Given the description of an element on the screen output the (x, y) to click on. 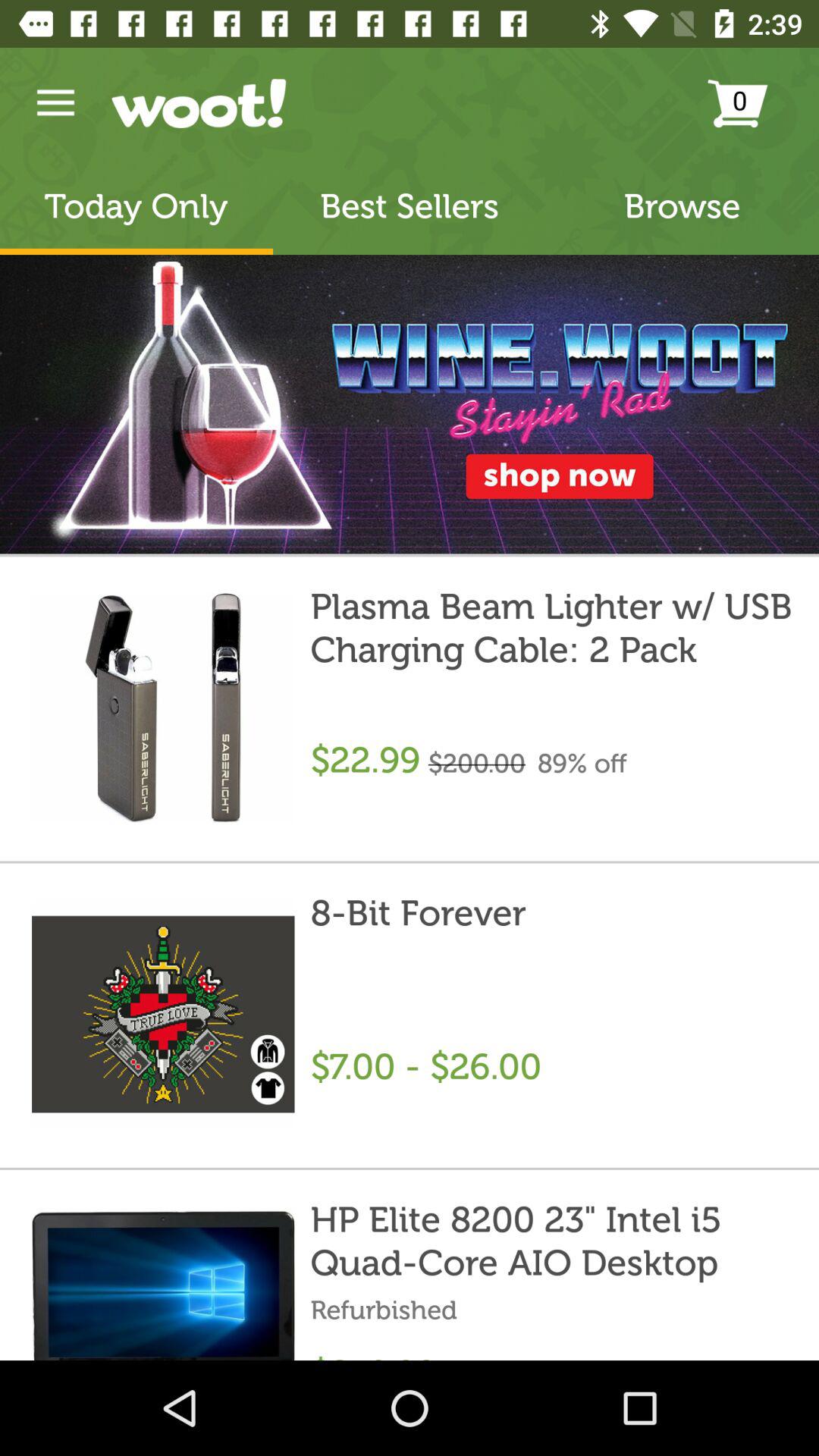
select the icon which is above the text browse (755, 103)
